Given the description of an element on the screen output the (x, y) to click on. 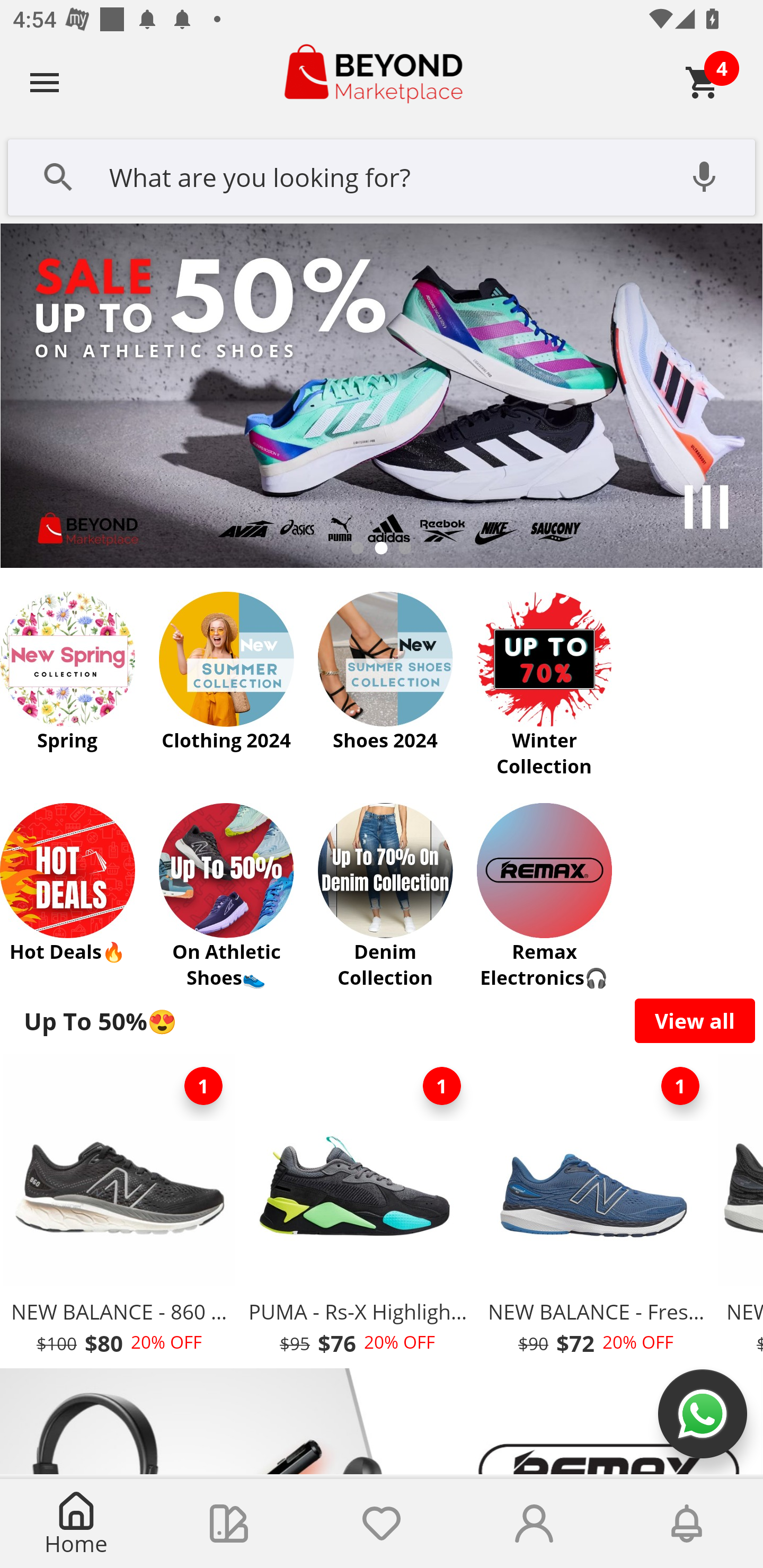
Navigate up (44, 82)
What are you looking for? (381, 175)
View all (694, 1020)
1 NEW BALANCE - 860 Running Shoes $100 $80 20% OFF (119, 1209)
1 (203, 1085)
1 (441, 1085)
1 (680, 1085)
Collections (228, 1523)
Wishlist (381, 1523)
Account (533, 1523)
Notifications (686, 1523)
